Given the description of an element on the screen output the (x, y) to click on. 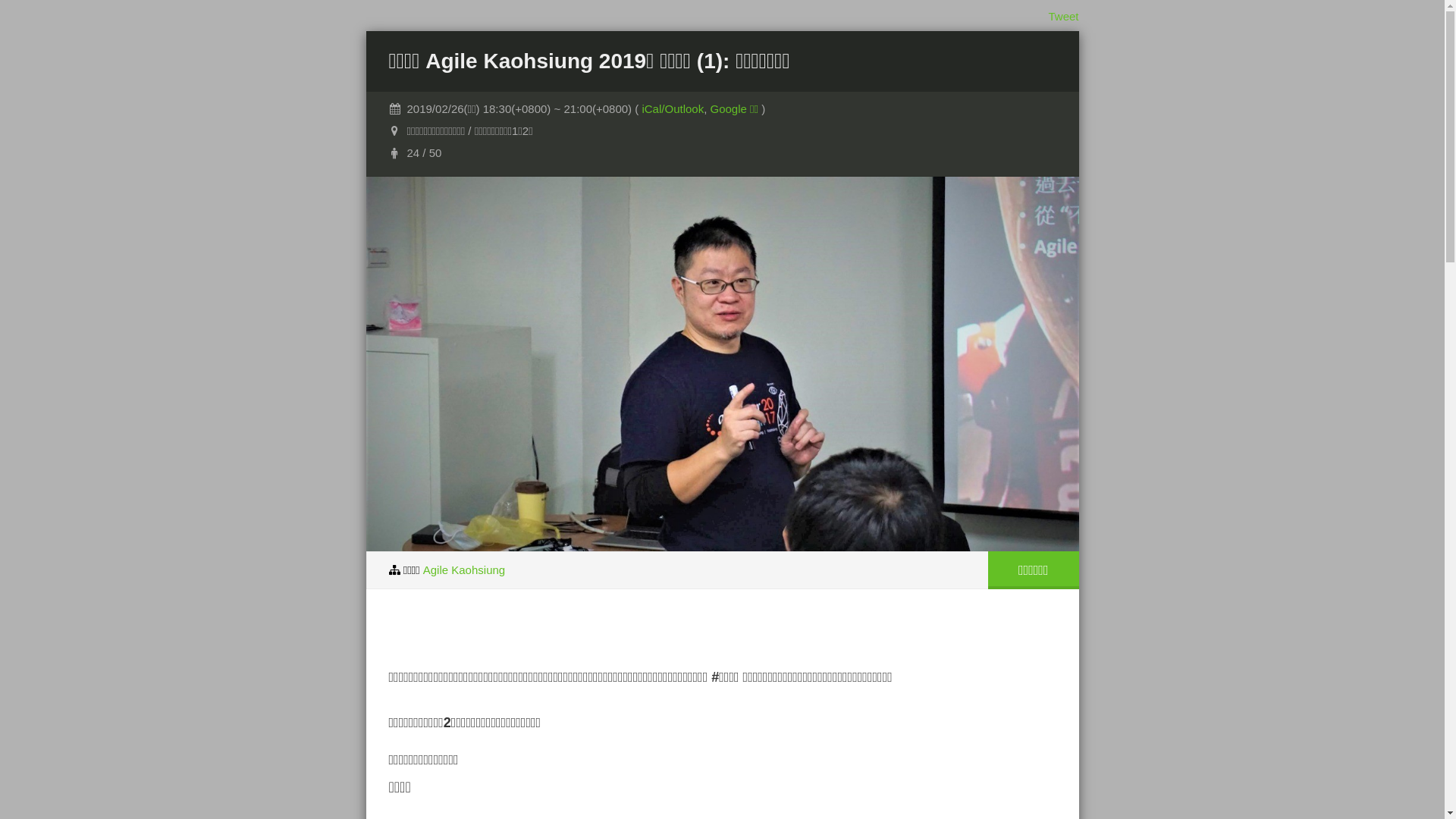
Agile Kaohsiung Element type: text (464, 568)
Tweet Element type: text (1063, 15)
iCal/Outlook Element type: text (672, 108)
